Given the description of an element on the screen output the (x, y) to click on. 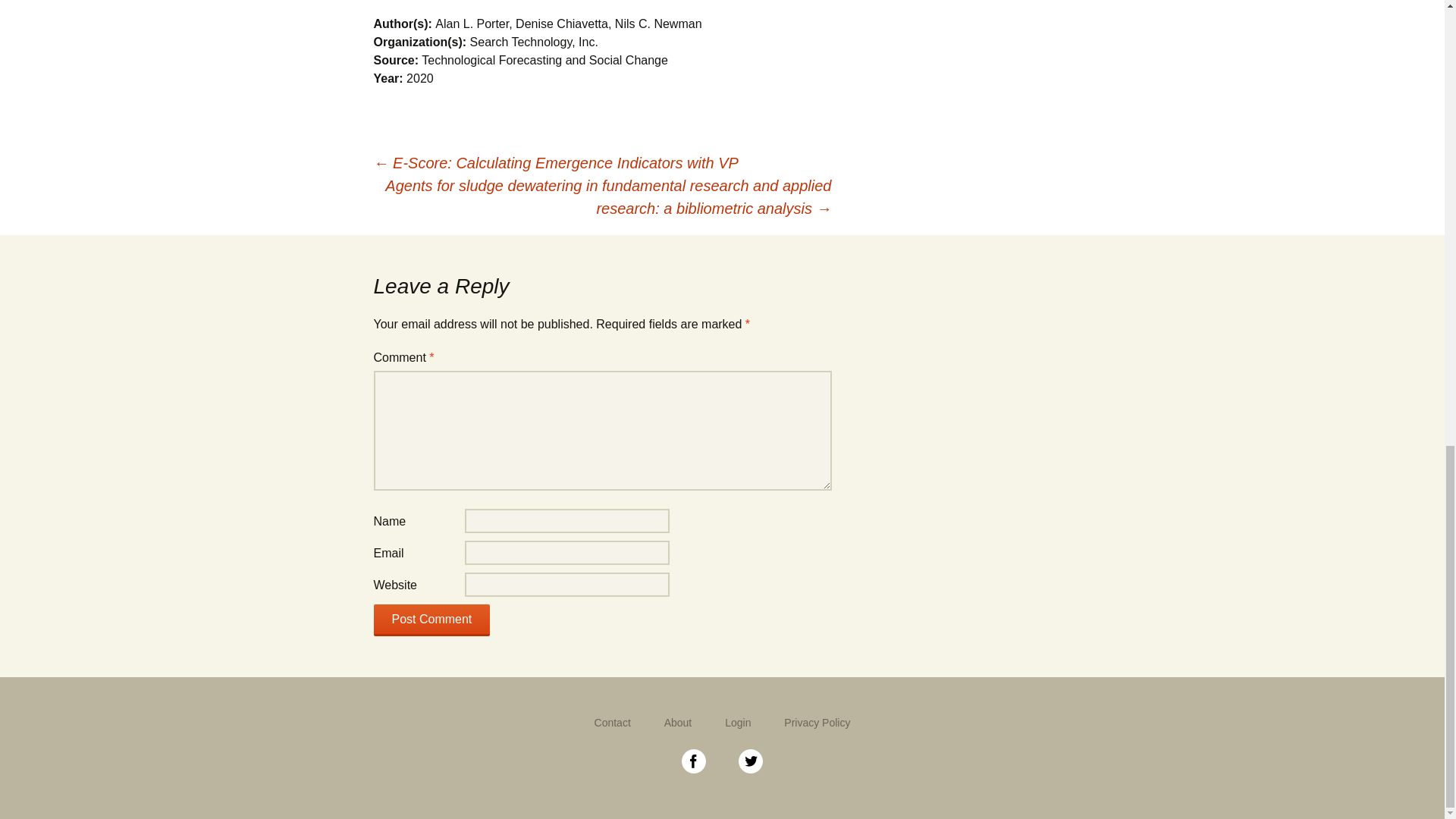
About (678, 722)
Contact (612, 722)
Post Comment (430, 620)
Facebook (695, 760)
Twitter (750, 760)
